Given the description of an element on the screen output the (x, y) to click on. 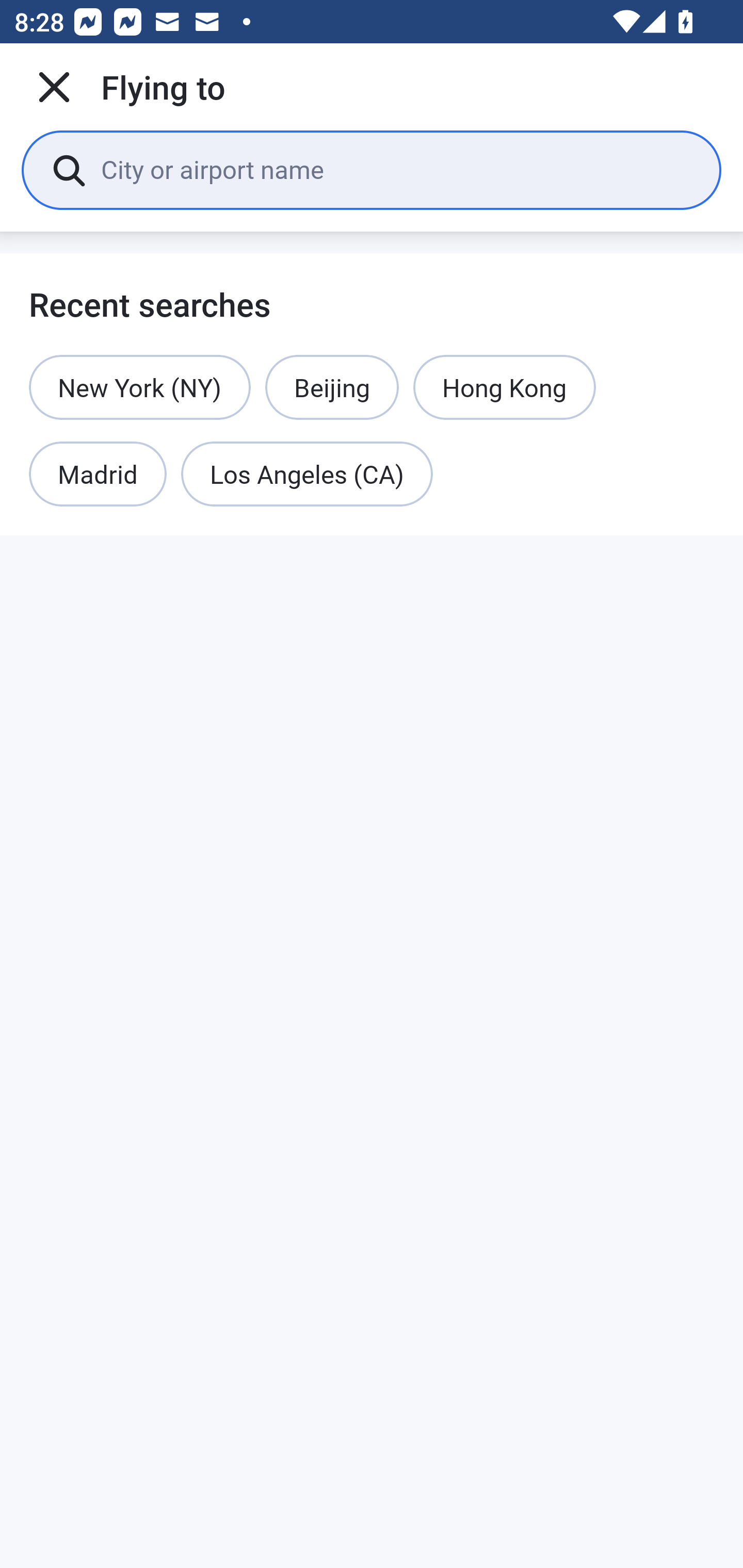
City or airport name (396, 169)
New York (NY) (139, 387)
Beijing (331, 387)
Hong Kong (504, 387)
Madrid (97, 474)
Los Angeles (CA) (307, 474)
